Given the description of an element on the screen output the (x, y) to click on. 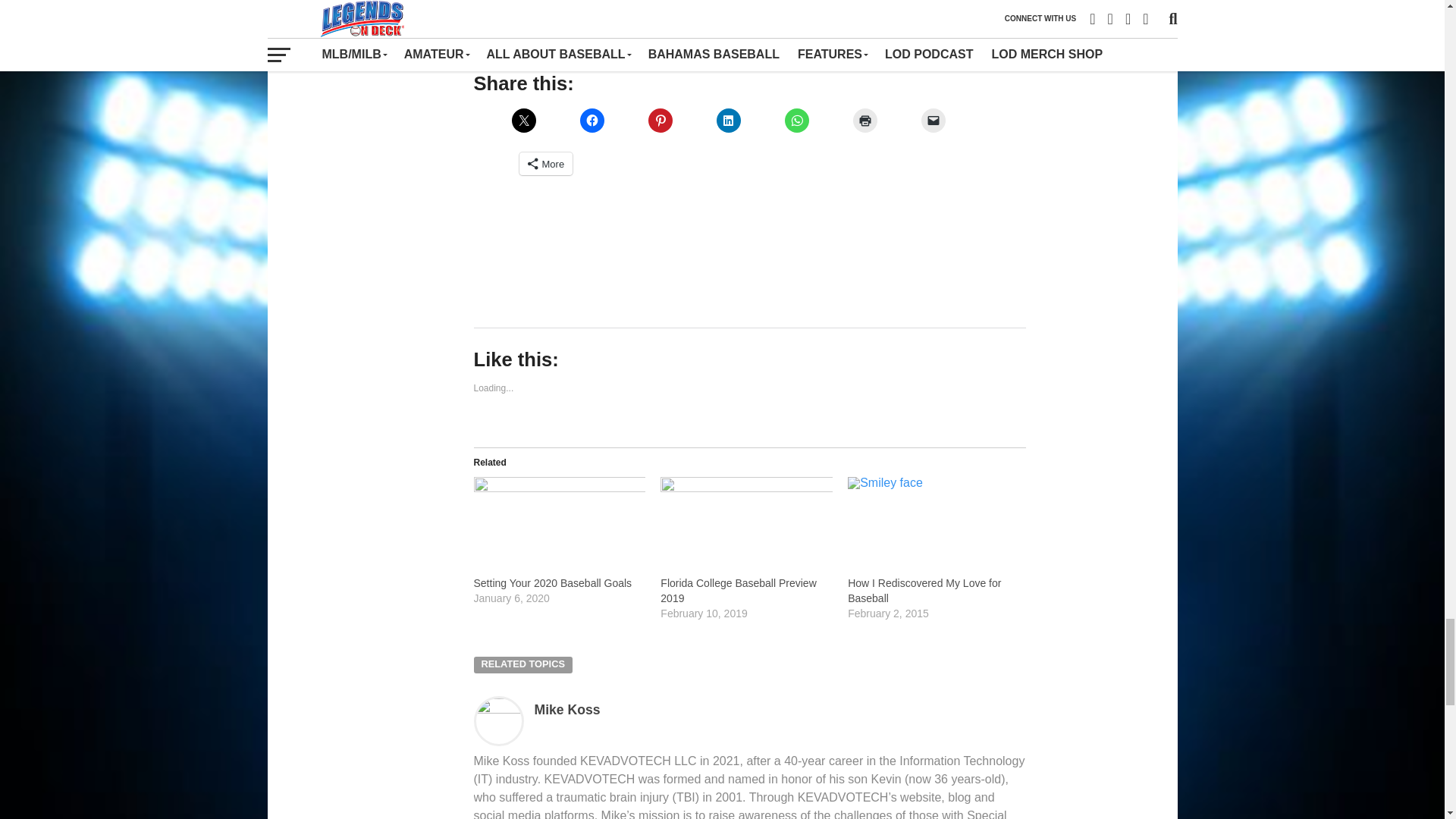
Setting Your 2020 Baseball Goals (552, 582)
Click to print (863, 120)
Click to email a link to a friend (932, 120)
Click to share on Pinterest (659, 120)
Florida College Baseball Preview 2019 (738, 590)
Florida College Baseball Preview 2019 (746, 525)
Click to share on Facebook (591, 120)
Click to share on WhatsApp (796, 120)
Click to share on X (523, 120)
Click to share on LinkedIn (727, 120)
Setting Your 2020 Baseball Goals (559, 525)
